Given the description of an element on the screen output the (x, y) to click on. 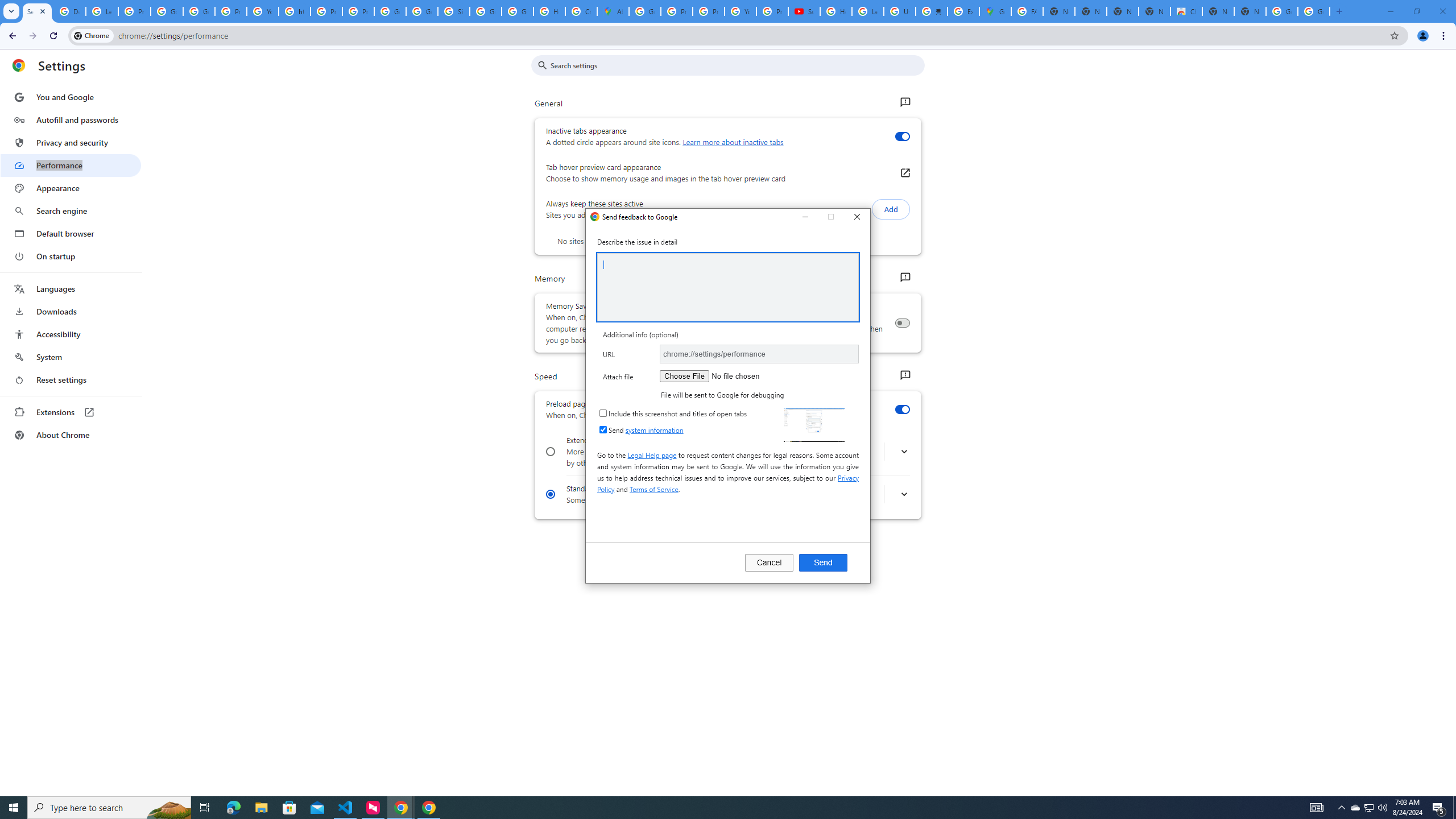
New Tab (1249, 11)
Send system information (603, 429)
Choose File: No file chosen (731, 376)
Performance (70, 164)
Standard preloading (550, 493)
Downloads (70, 311)
Search highlights icon opens search home window (167, 807)
Google Chrome - 3 running windows (400, 807)
